Given the description of an element on the screen output the (x, y) to click on. 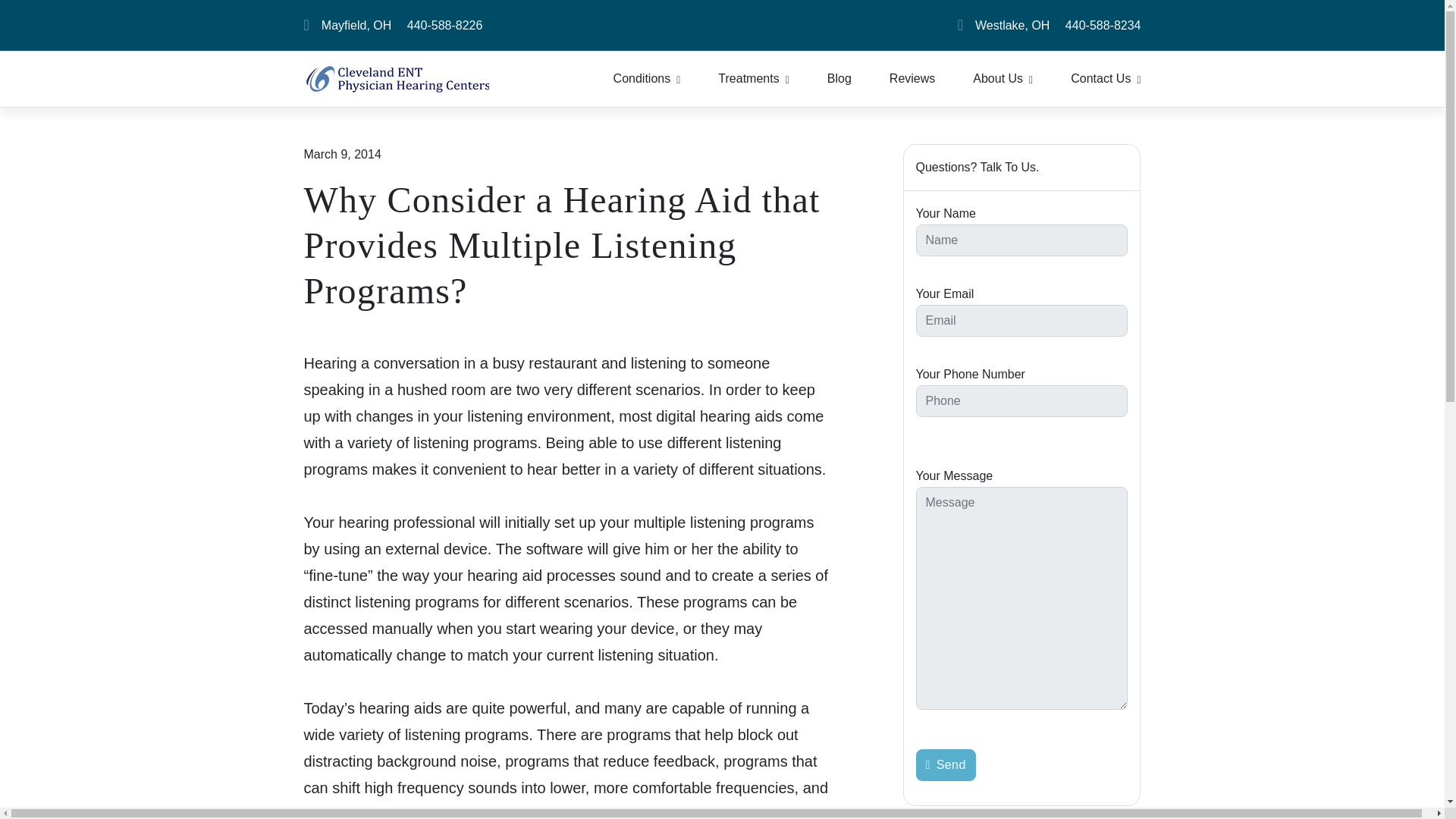
Treatments (753, 79)
440-588-8234 (1103, 25)
Conditions (647, 79)
Westlake, OH (1012, 25)
Mayfield, OH (356, 25)
440-588-8226 (445, 25)
